Given the description of an element on the screen output the (x, y) to click on. 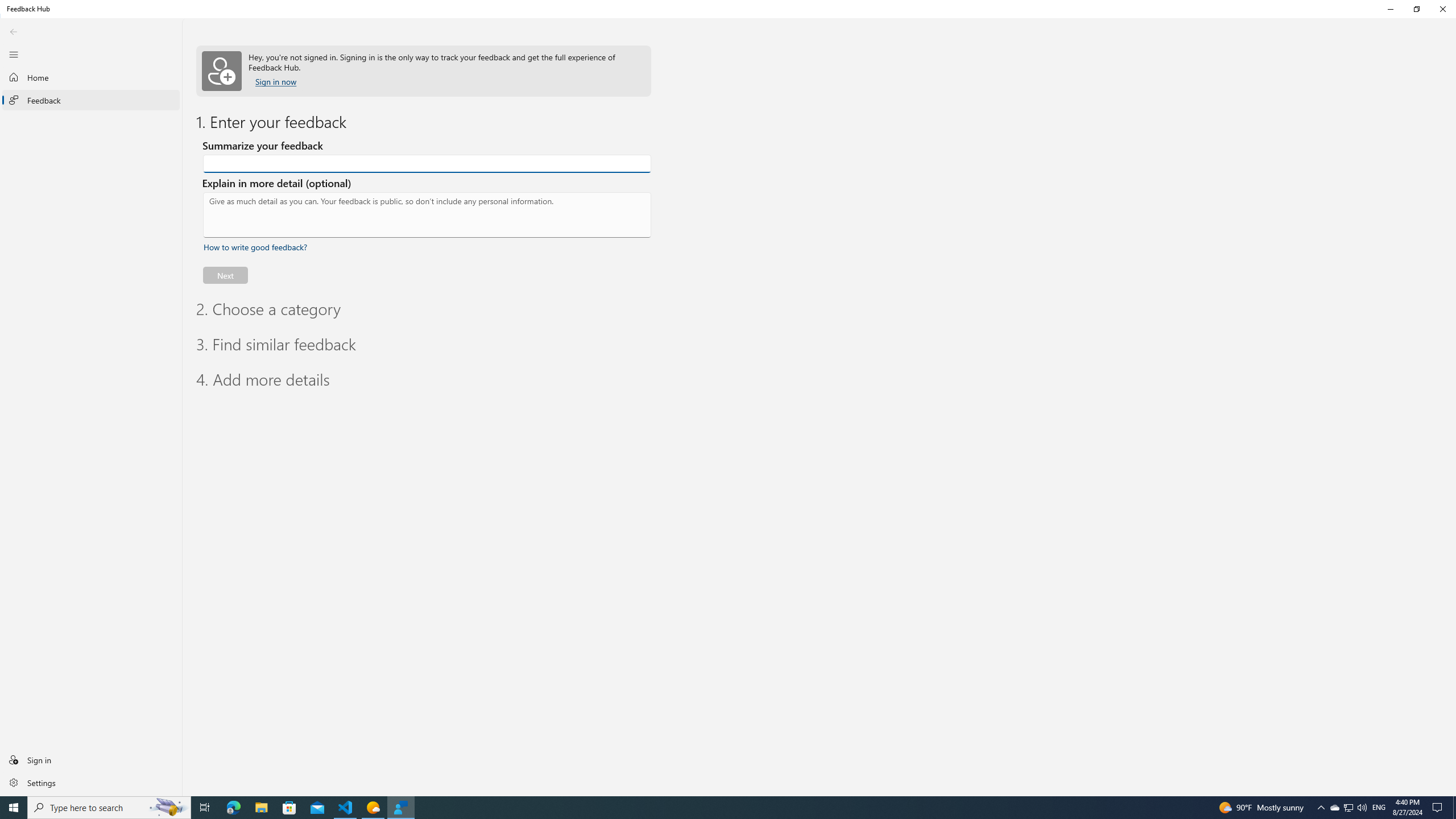
Tray Input Indicator - English (United States) (1378, 807)
Weather - 1 running window (373, 807)
Type here to search (108, 807)
Show desktop (1454, 807)
Minimize Feedback Hub (1390, 9)
Feedback Hub - 1 running window (400, 807)
